Given the description of an element on the screen output the (x, y) to click on. 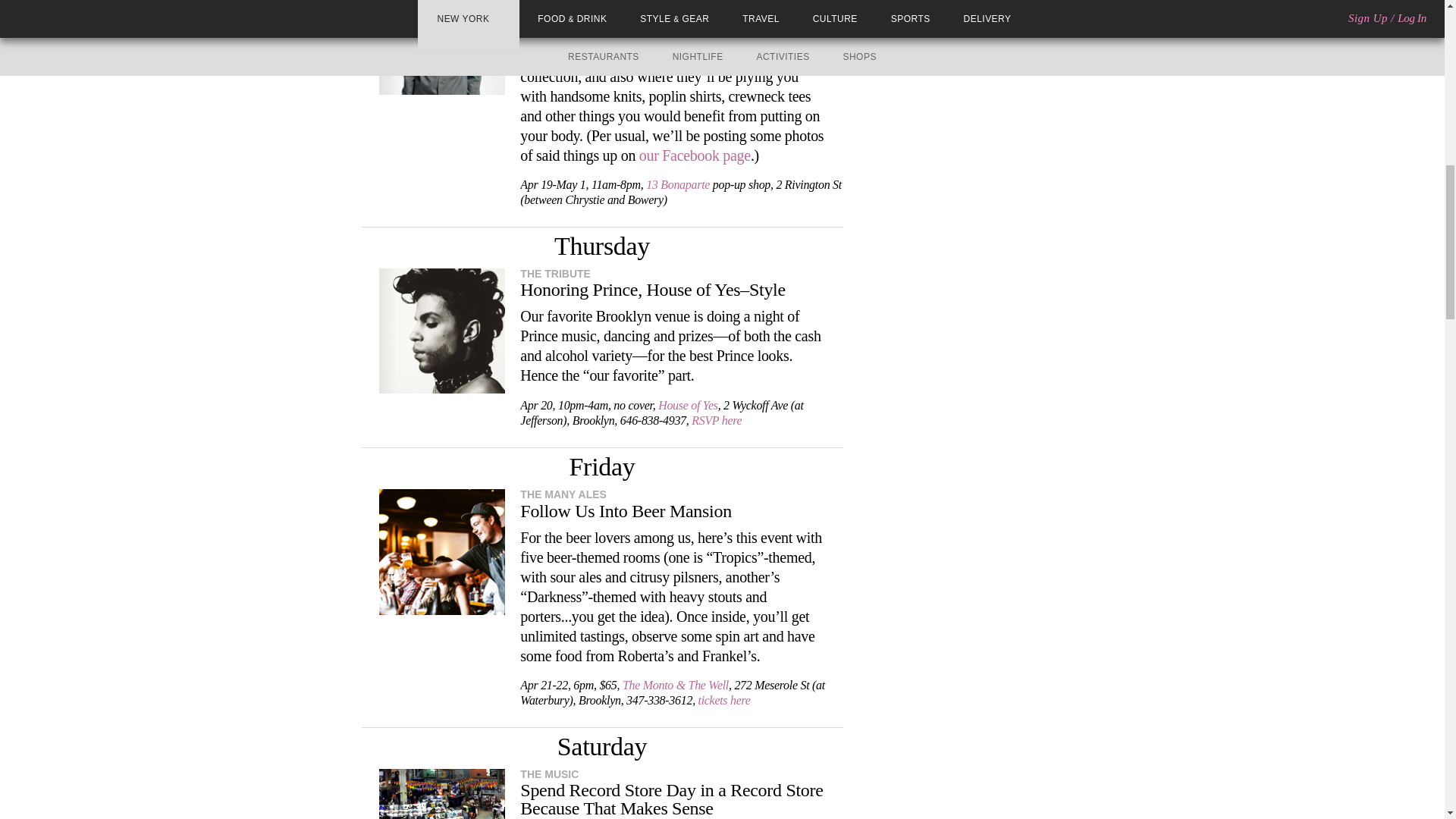
13 Bonaparte (678, 184)
RSVP here (716, 420)
our Facebook page (695, 155)
House of Yes (687, 404)
